Given the description of an element on the screen output the (x, y) to click on. 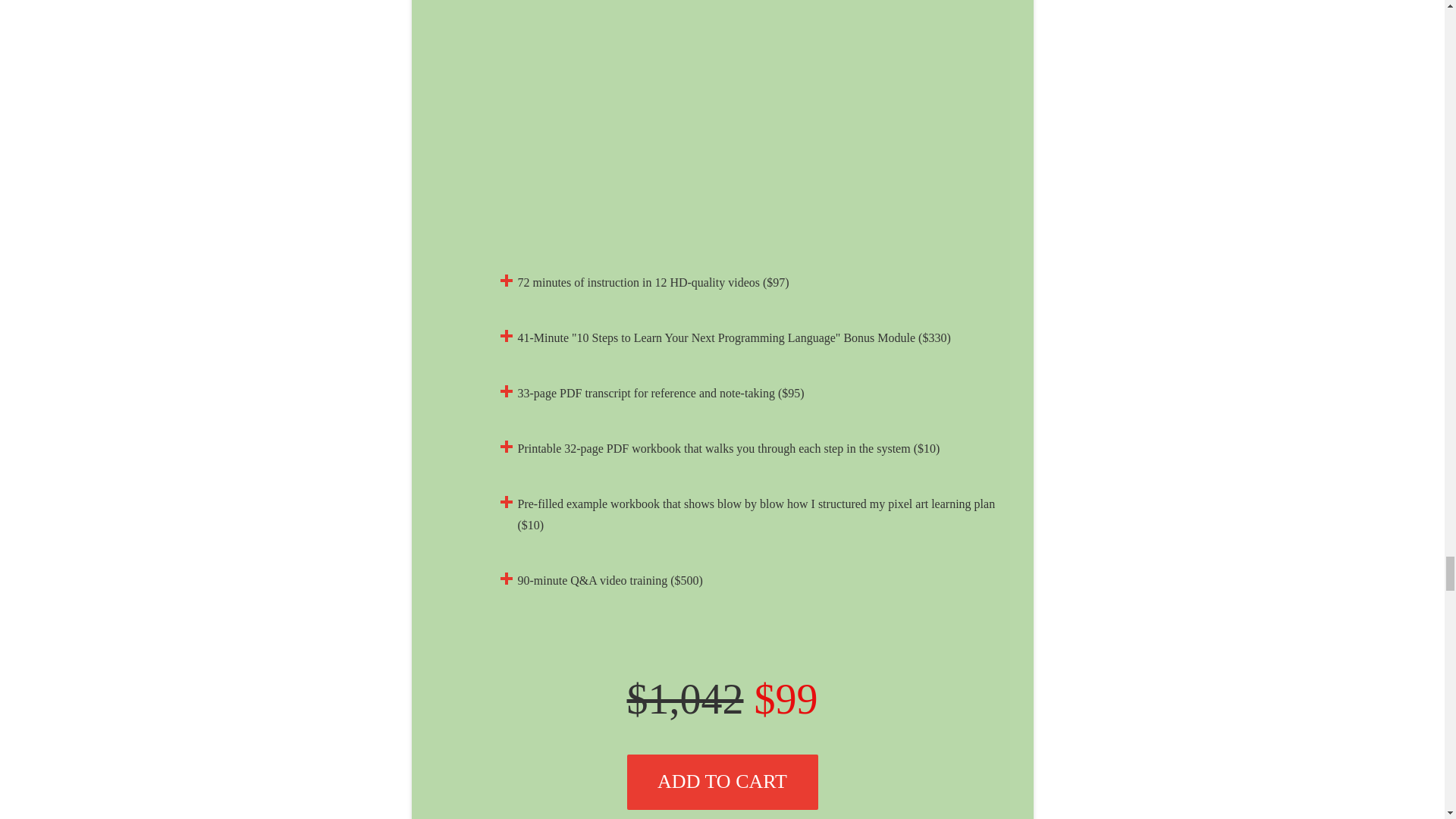
ADD TO CART (721, 781)
